Given the description of an element on the screen output the (x, y) to click on. 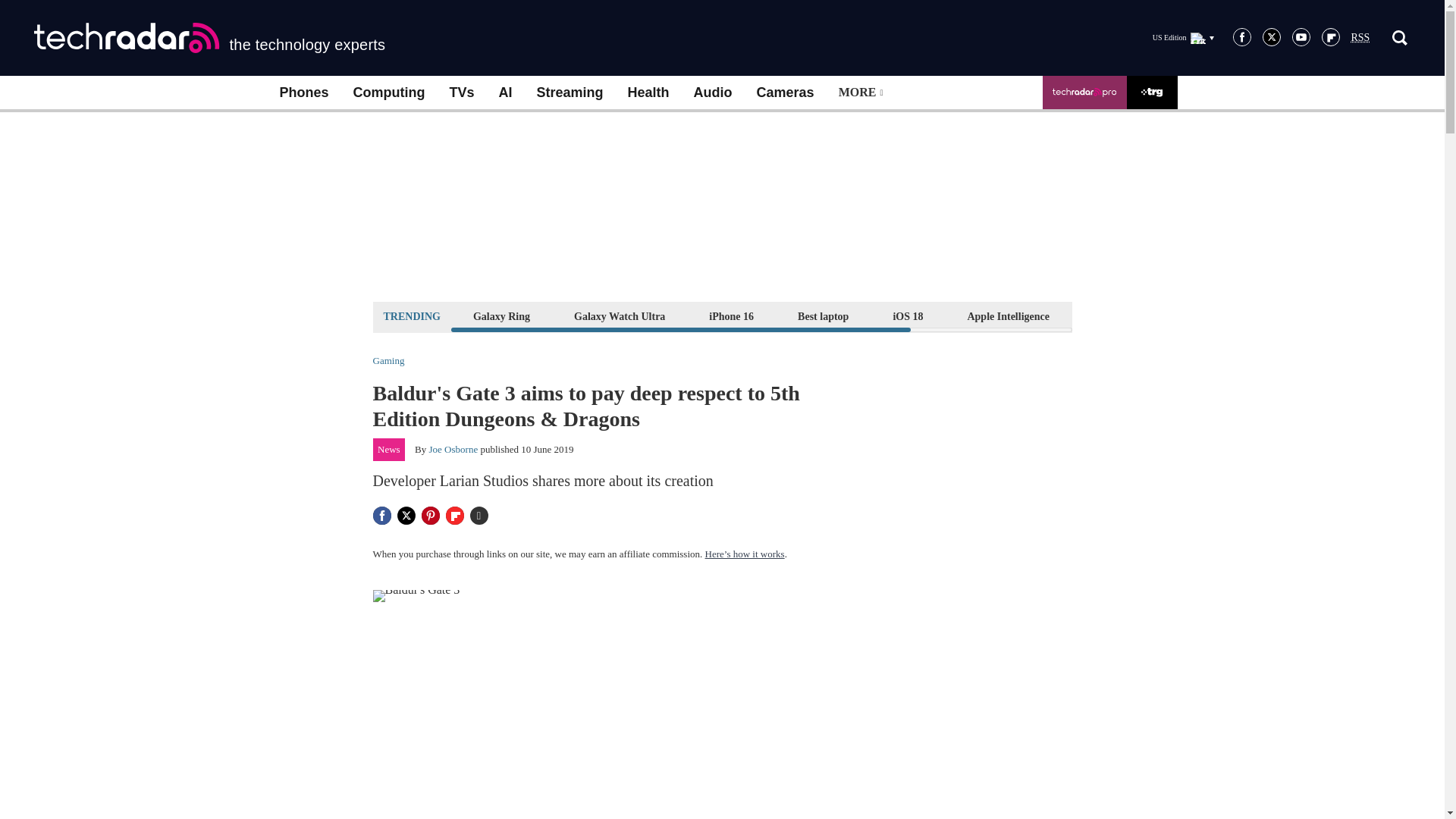
the technology experts (209, 38)
RSS (1360, 38)
Health (648, 92)
US Edition (1182, 37)
Cameras (785, 92)
Audio (712, 92)
Phones (303, 92)
TVs (461, 92)
Computing (389, 92)
Streaming (569, 92)
AI (505, 92)
Really Simple Syndication (1360, 37)
